Given the description of an element on the screen output the (x, y) to click on. 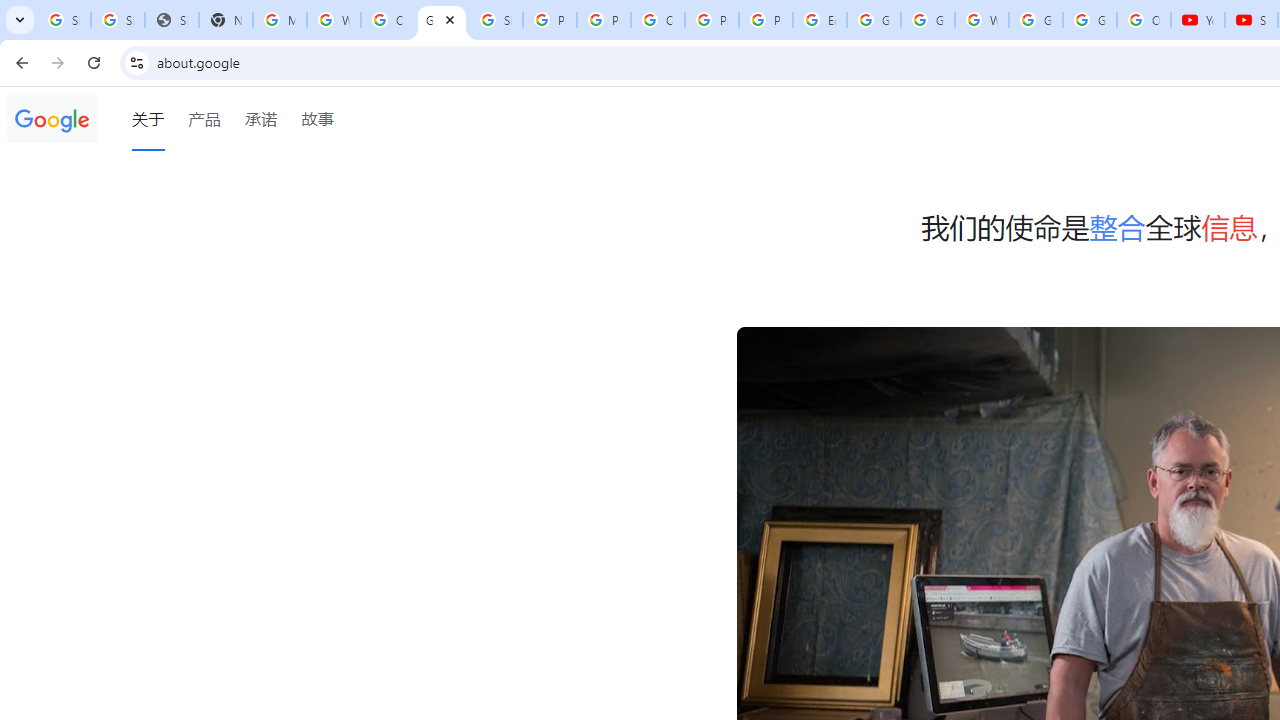
YouTube (1197, 20)
Reload (93, 62)
Create your Google Account (387, 20)
Sign in - Google Accounts (117, 20)
